Given the description of an element on the screen output the (x, y) to click on. 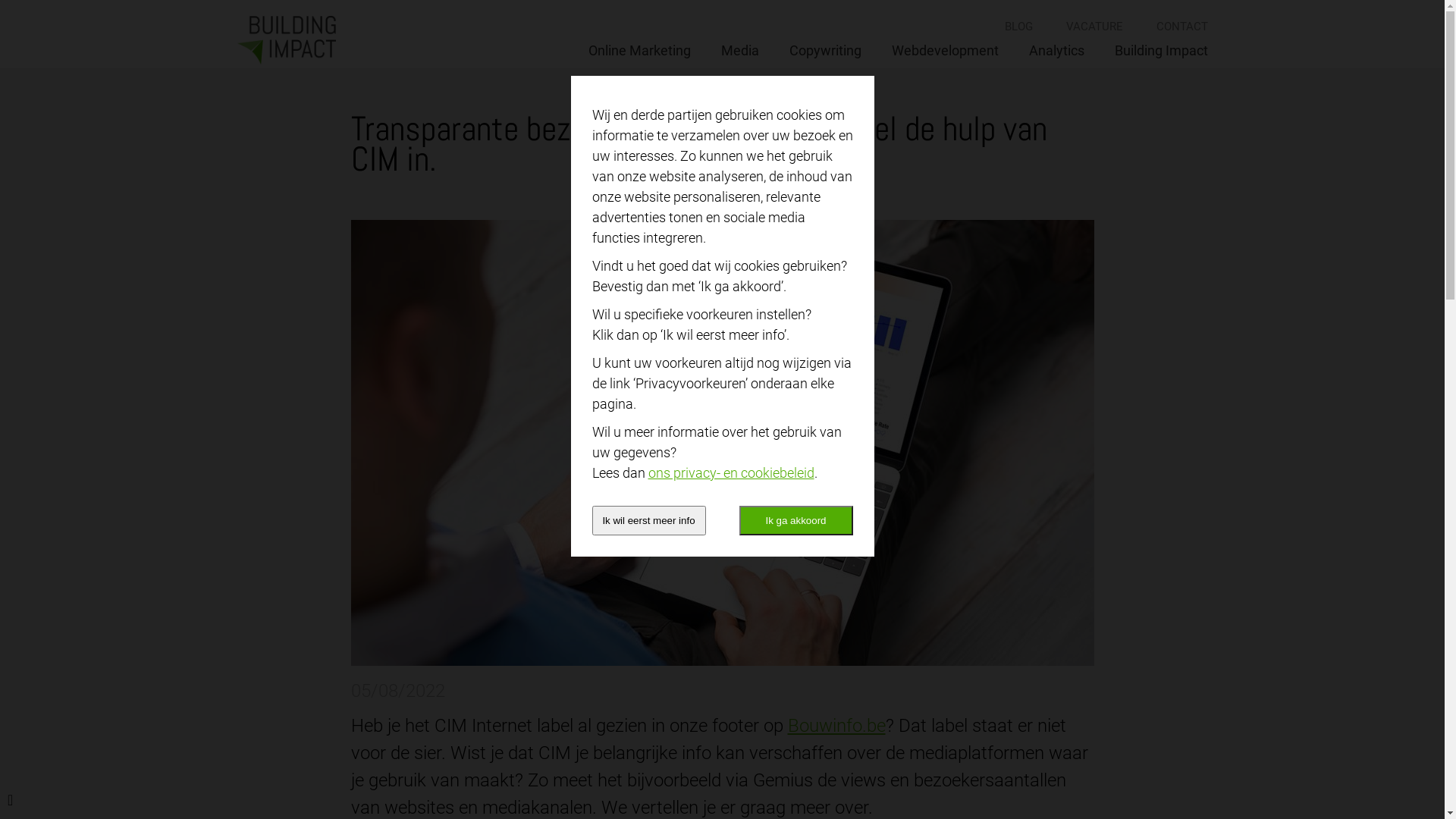
Media Element type: text (739, 50)
Ik wil eerst meer info Element type: text (648, 520)
Copywriting Element type: text (824, 50)
Overslaan en naar de inhoud gaan Element type: text (0, 0)
CONTACT Element type: text (1181, 26)
Bouwinfo.be Element type: text (835, 725)
BLOG Element type: text (1018, 26)
Online Marketing Element type: text (639, 50)
Webdevelopment Element type: text (944, 50)
ons privacy- en cookiebeleid Element type: text (730, 472)
Ik ga akkoord Element type: text (795, 520)
Analytics Element type: text (1055, 50)
Building Impact Element type: text (1161, 50)
VACATURE Element type: text (1094, 26)
